Given the description of an element on the screen output the (x, y) to click on. 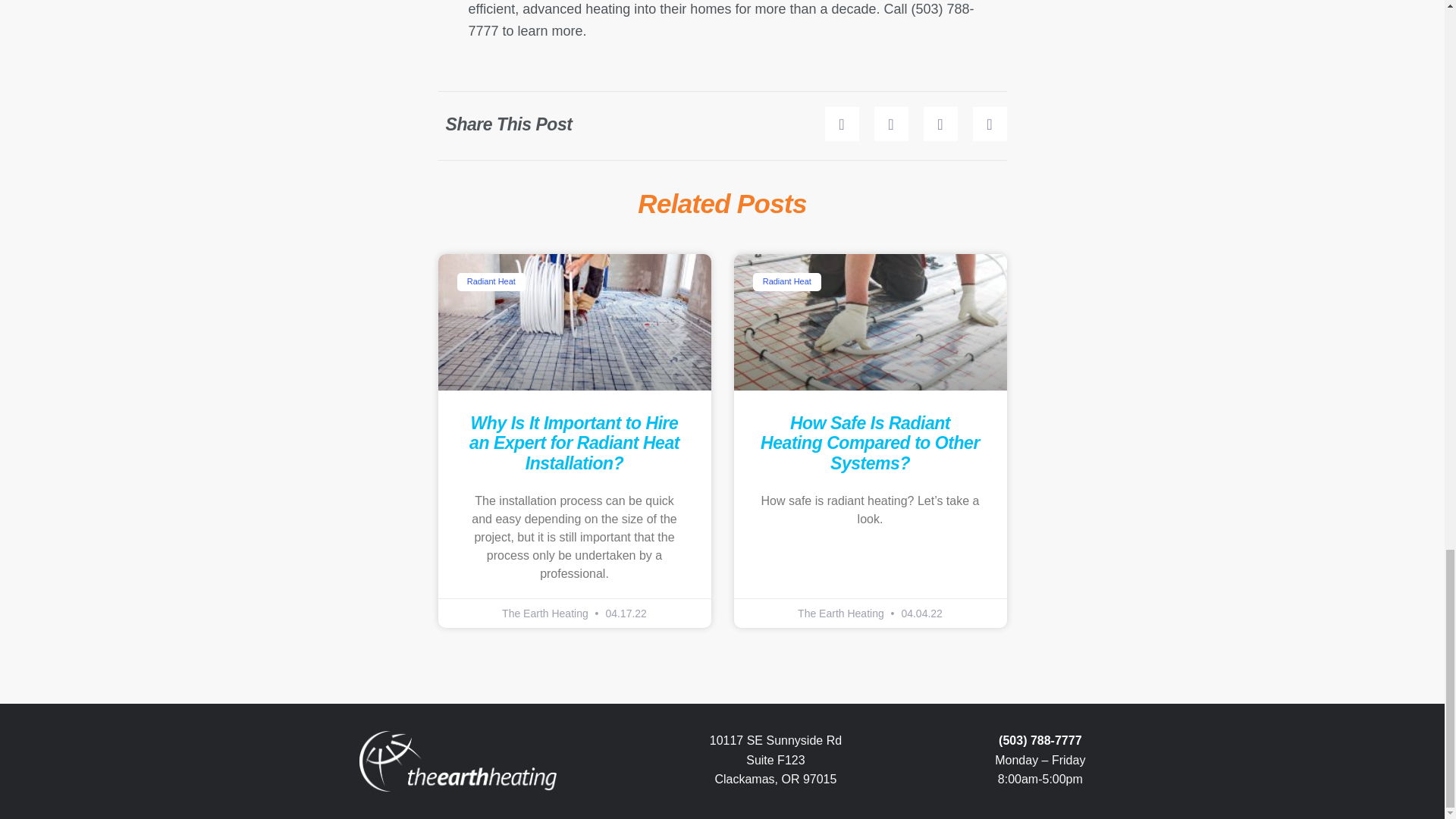
How Safe Is Radiant Heating Compared to Other Systems? (869, 443)
